Given the description of an element on the screen output the (x, y) to click on. 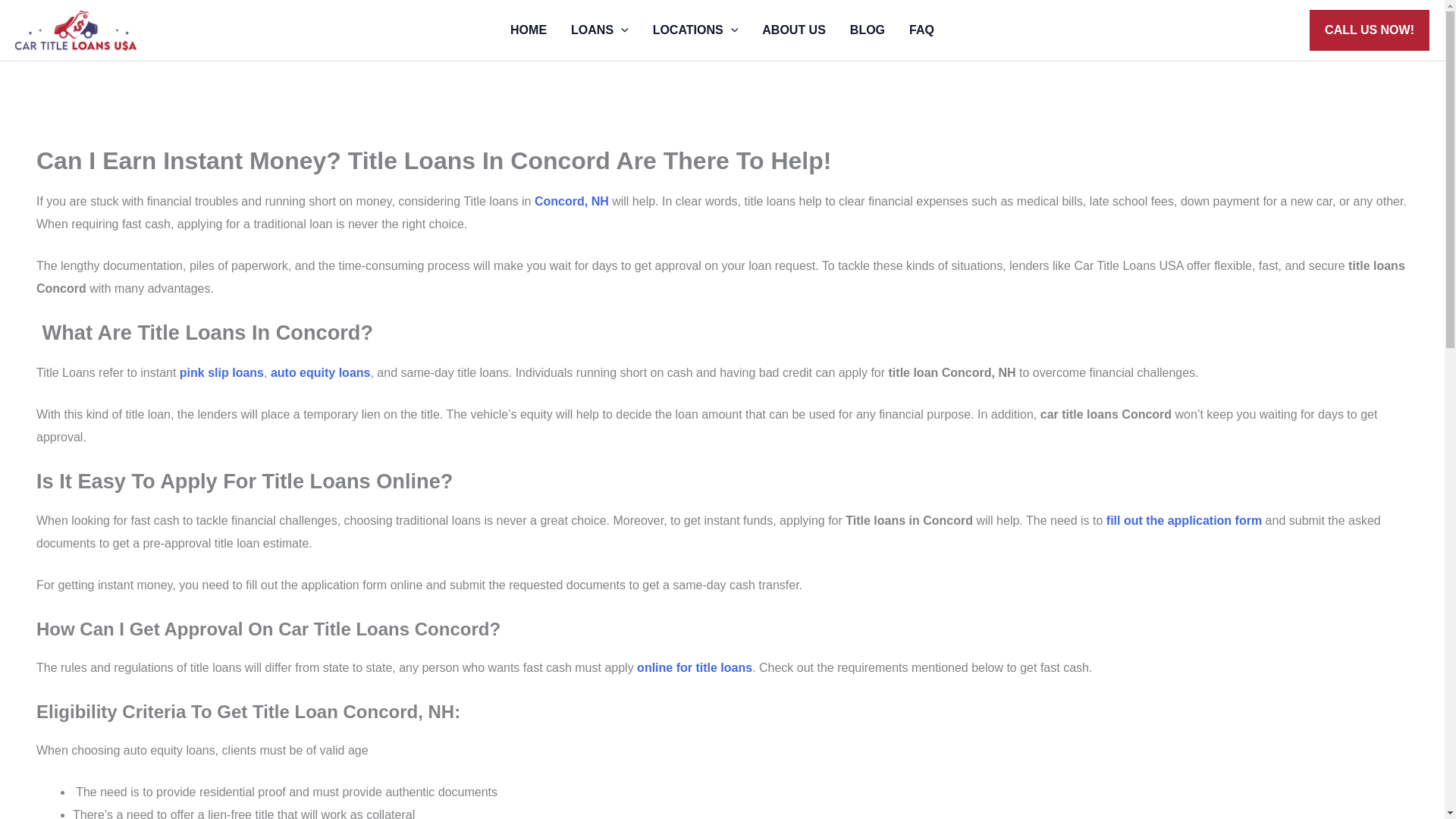
HOME (528, 30)
LOANS (599, 30)
LOCATIONS (695, 30)
